Given the description of an element on the screen output the (x, y) to click on. 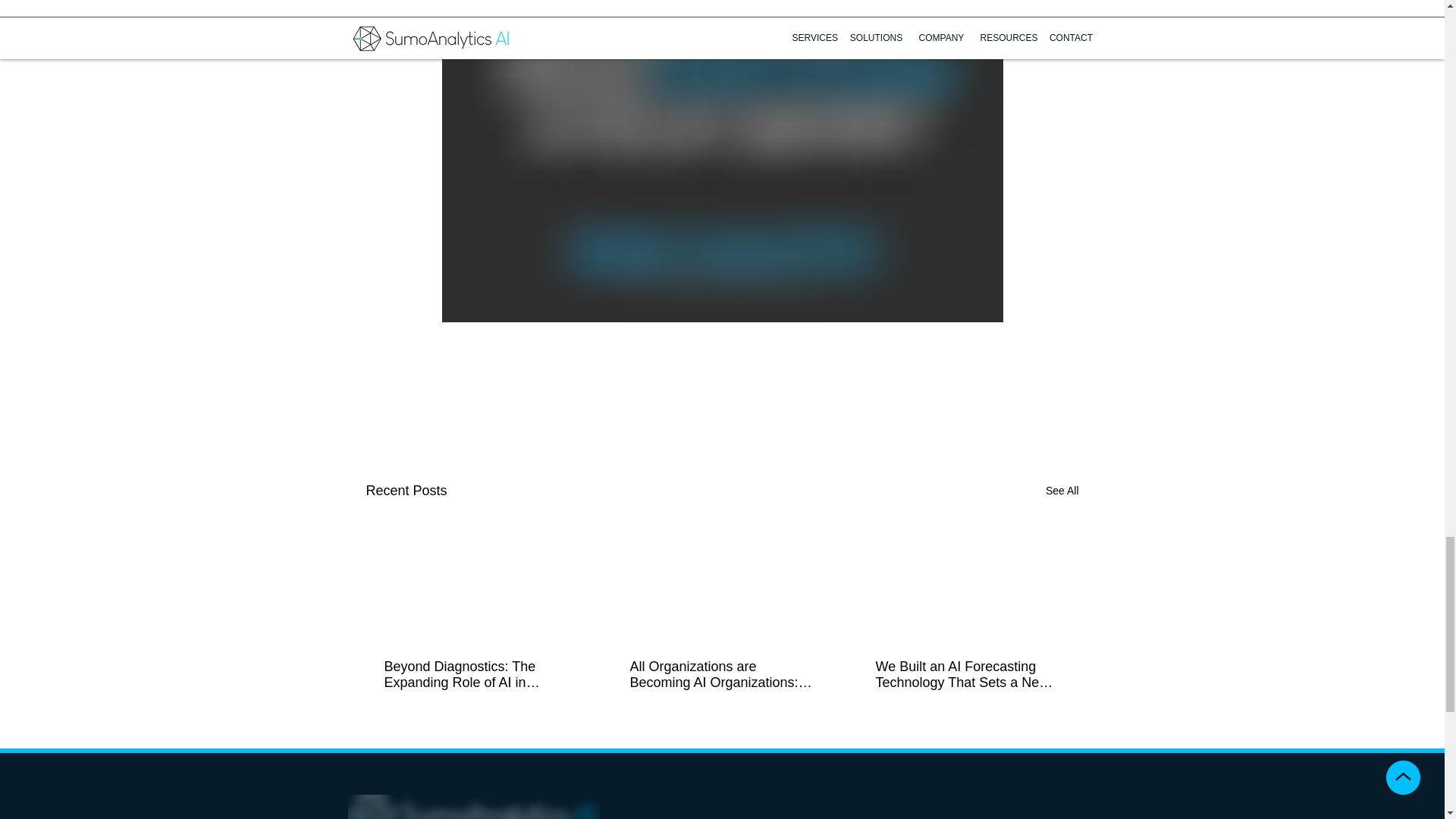
See All (1061, 490)
